Given the description of an element on the screen output the (x, y) to click on. 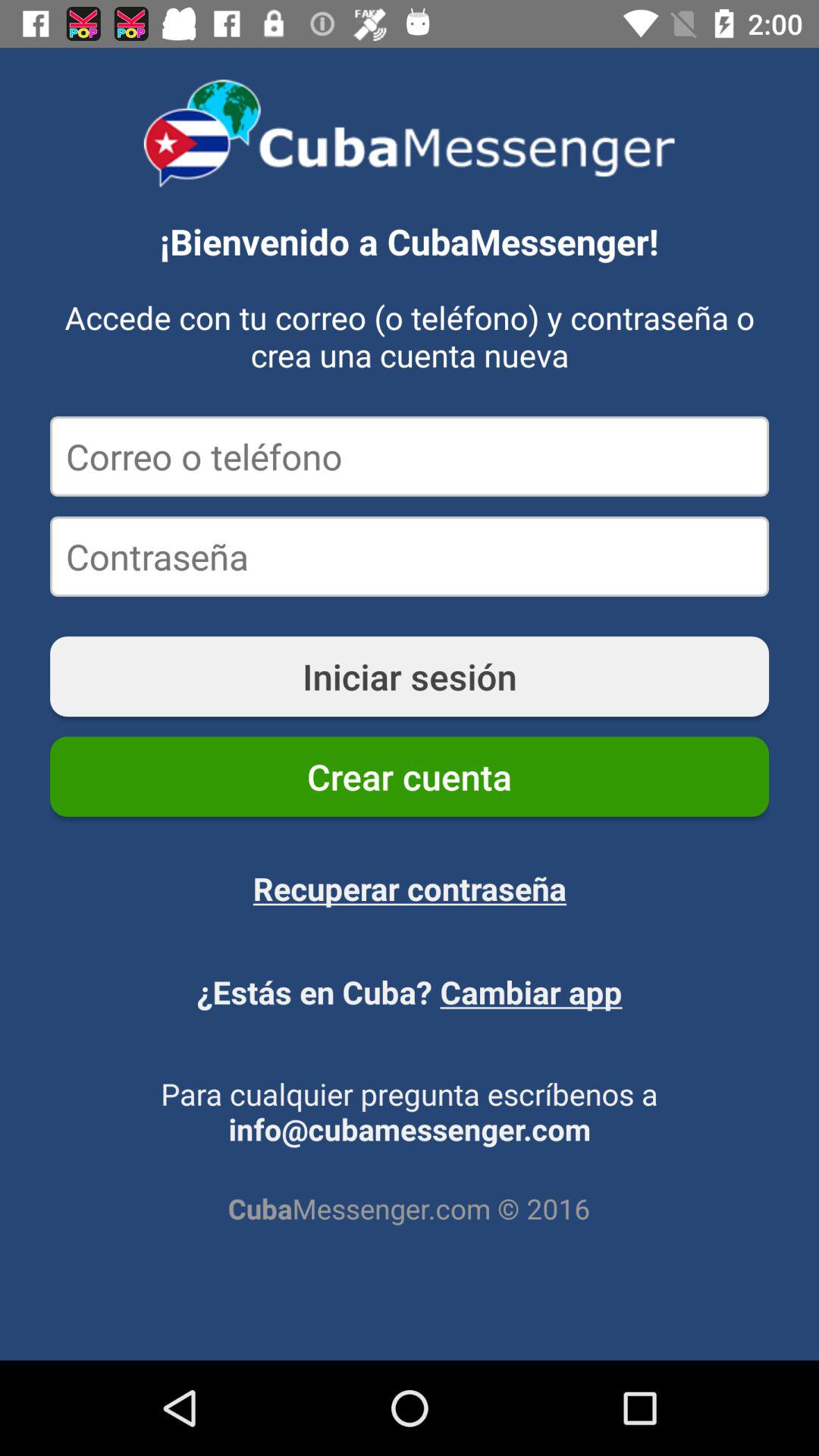
turn off crear cuenta item (409, 776)
